Given the description of an element on the screen output the (x, y) to click on. 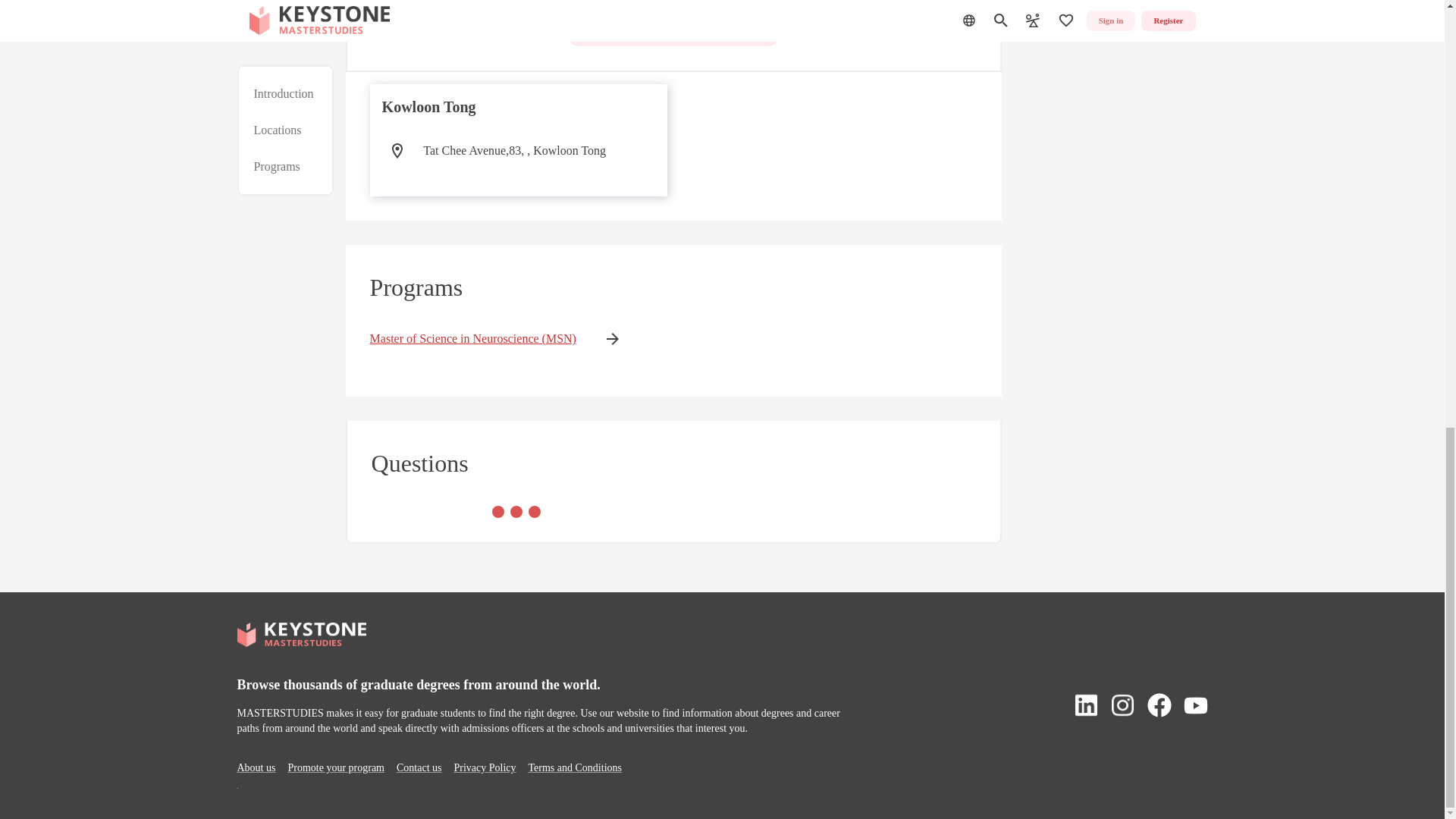
About us (255, 767)
Contact us (419, 767)
Privacy Policy (483, 767)
Read more on the institution's website (673, 25)
Promote your program (335, 767)
Terms and Conditions (574, 767)
